Given the description of an element on the screen output the (x, y) to click on. 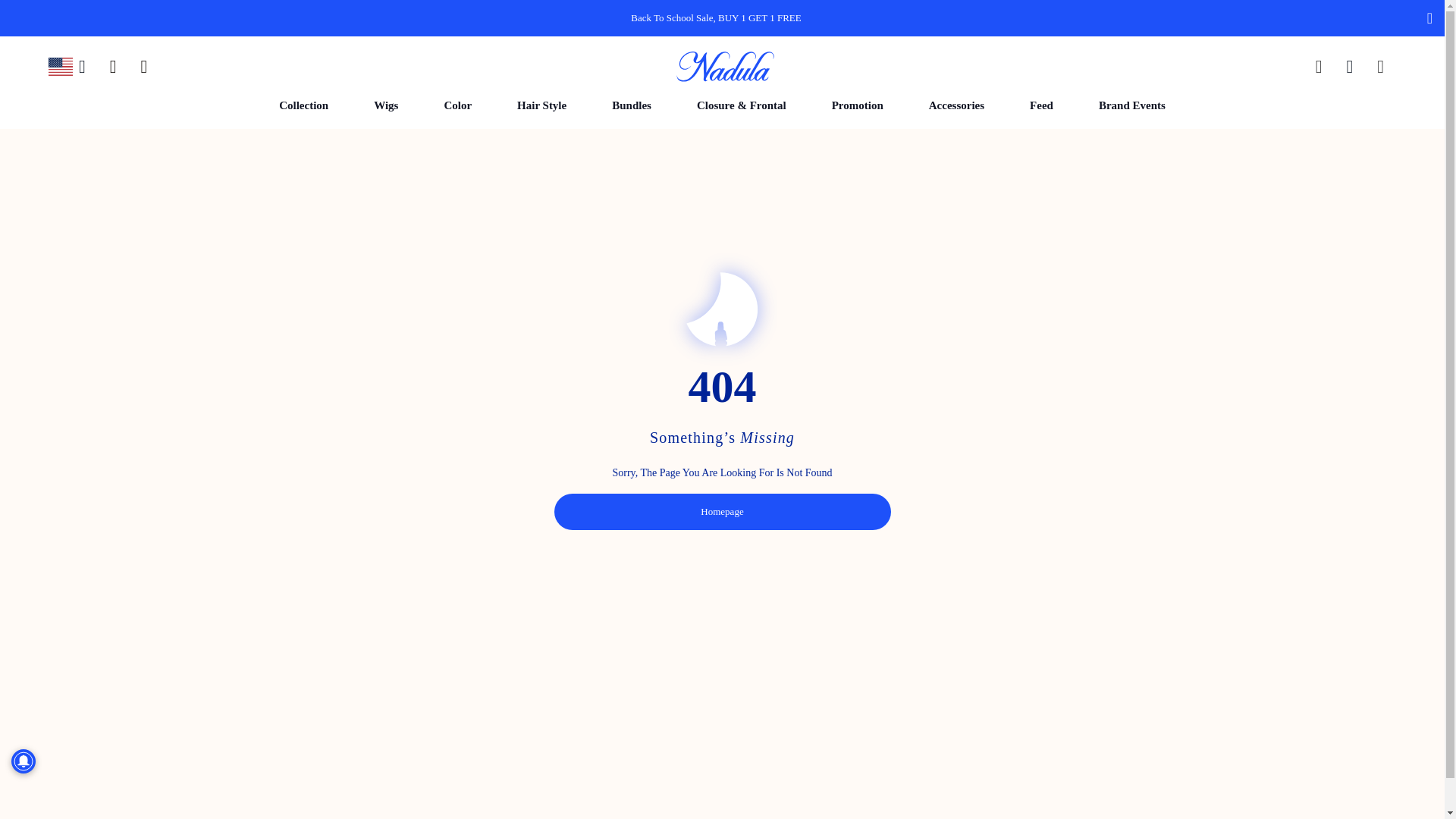
Brand Events (1131, 104)
Wigs (385, 104)
Accessories (956, 104)
Collection (303, 104)
Homepage (721, 511)
Color (457, 104)
Homepage (721, 505)
Hair Style (542, 104)
Feed (1041, 104)
Promotion (857, 104)
